Given the description of an element on the screen output the (x, y) to click on. 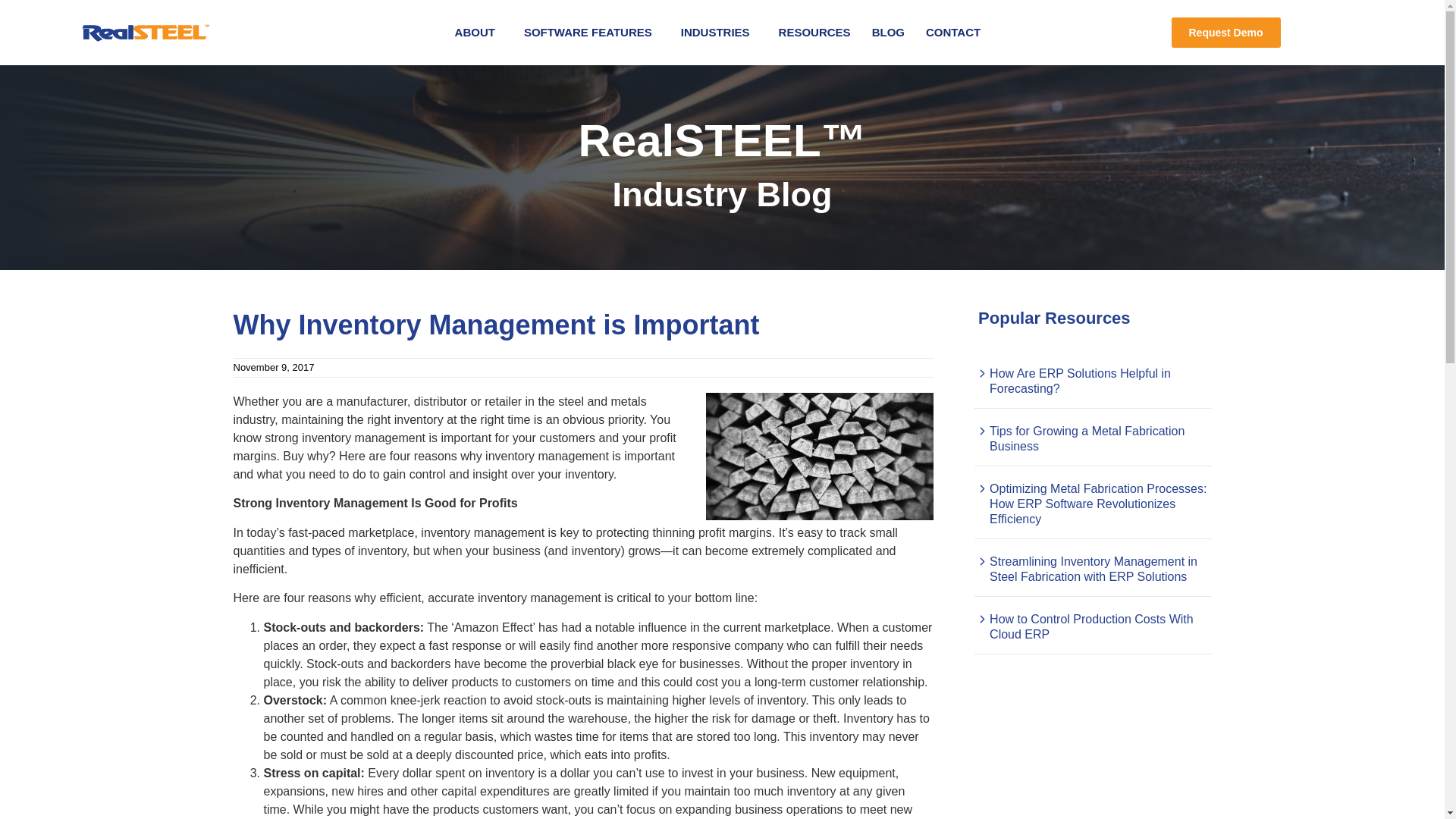
INDUSTRIES (718, 32)
SOFTWARE FEATURES (591, 32)
CONTACT (953, 32)
RESOURCES (814, 32)
BLOG (888, 32)
ABOUT (478, 32)
